Given the description of an element on the screen output the (x, y) to click on. 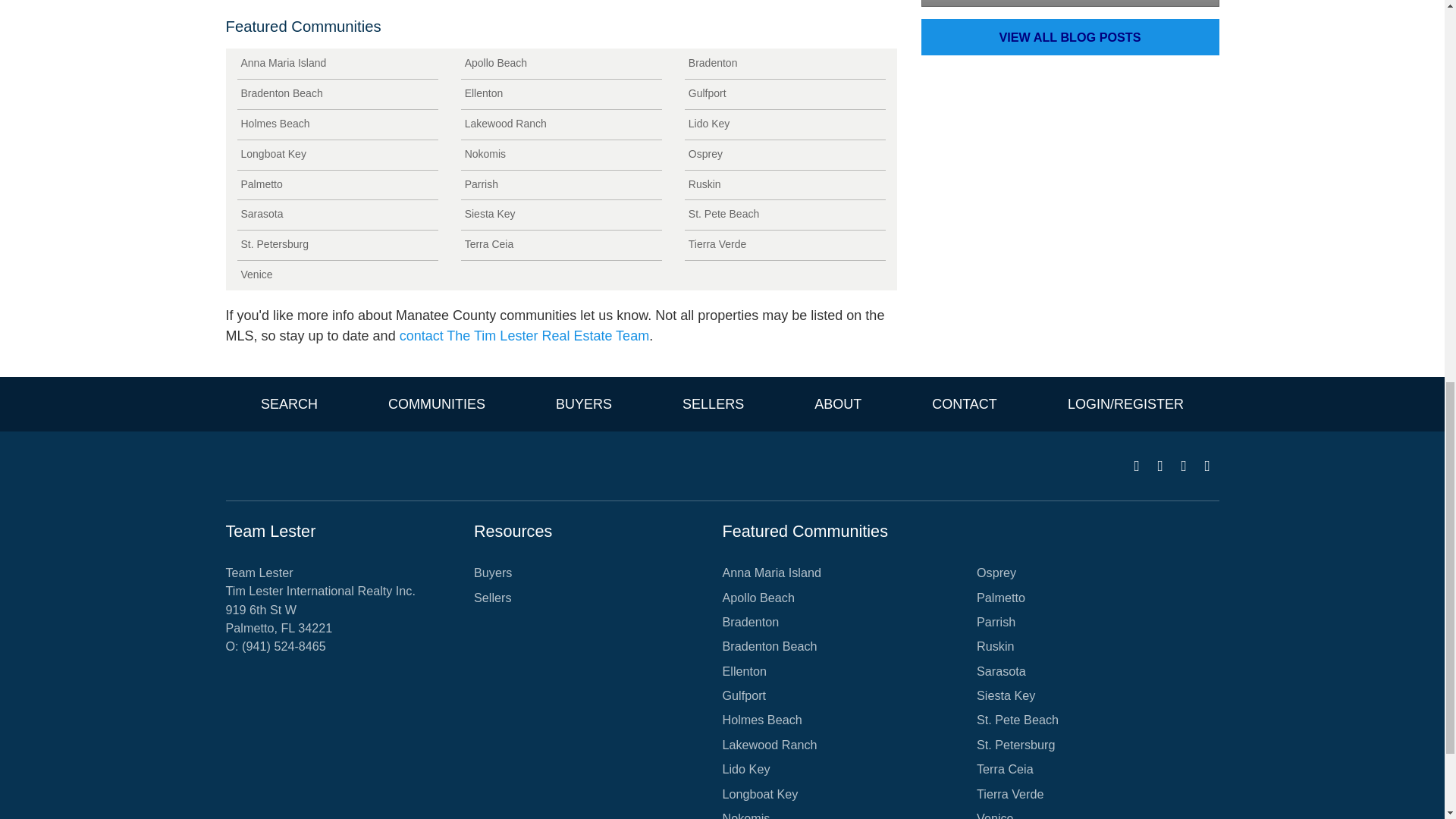
View Apollo Beach (561, 63)
View Bradenton Beach (336, 93)
View Anna Maria Island (336, 63)
View Bradenton (784, 63)
View Ellenton (561, 93)
View Gulfport (784, 93)
